Given the description of an element on the screen output the (x, y) to click on. 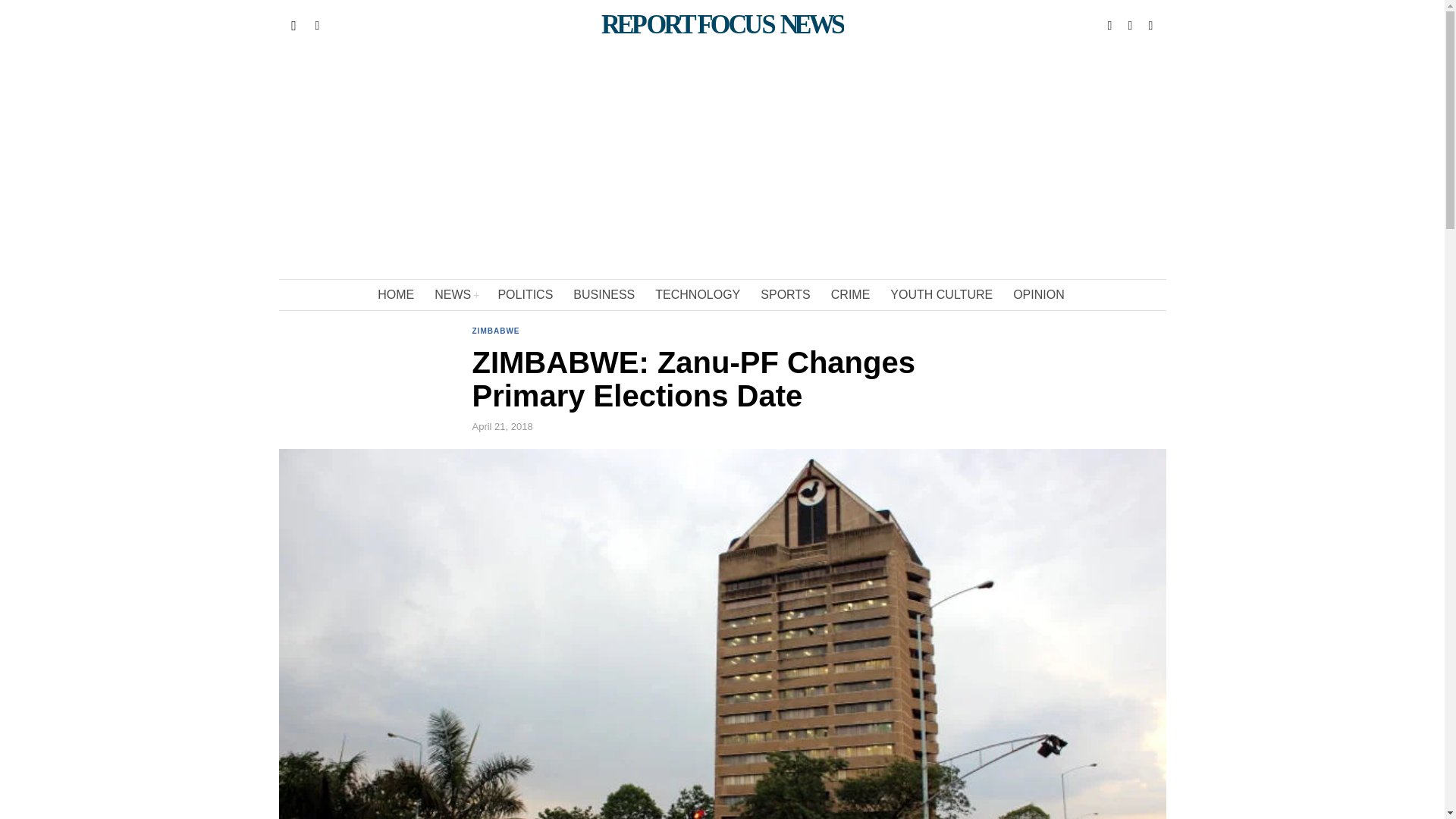
POLITICS (525, 295)
21 Apr, 2018 07:29:16 (501, 427)
TECHNOLOGY (698, 295)
YOUTH CULTURE (942, 295)
SPORTS (786, 295)
NEWS (456, 295)
ZIMBABWE (495, 331)
BUSINESS (605, 295)
CRIME (852, 295)
